Given the description of an element on the screen output the (x, y) to click on. 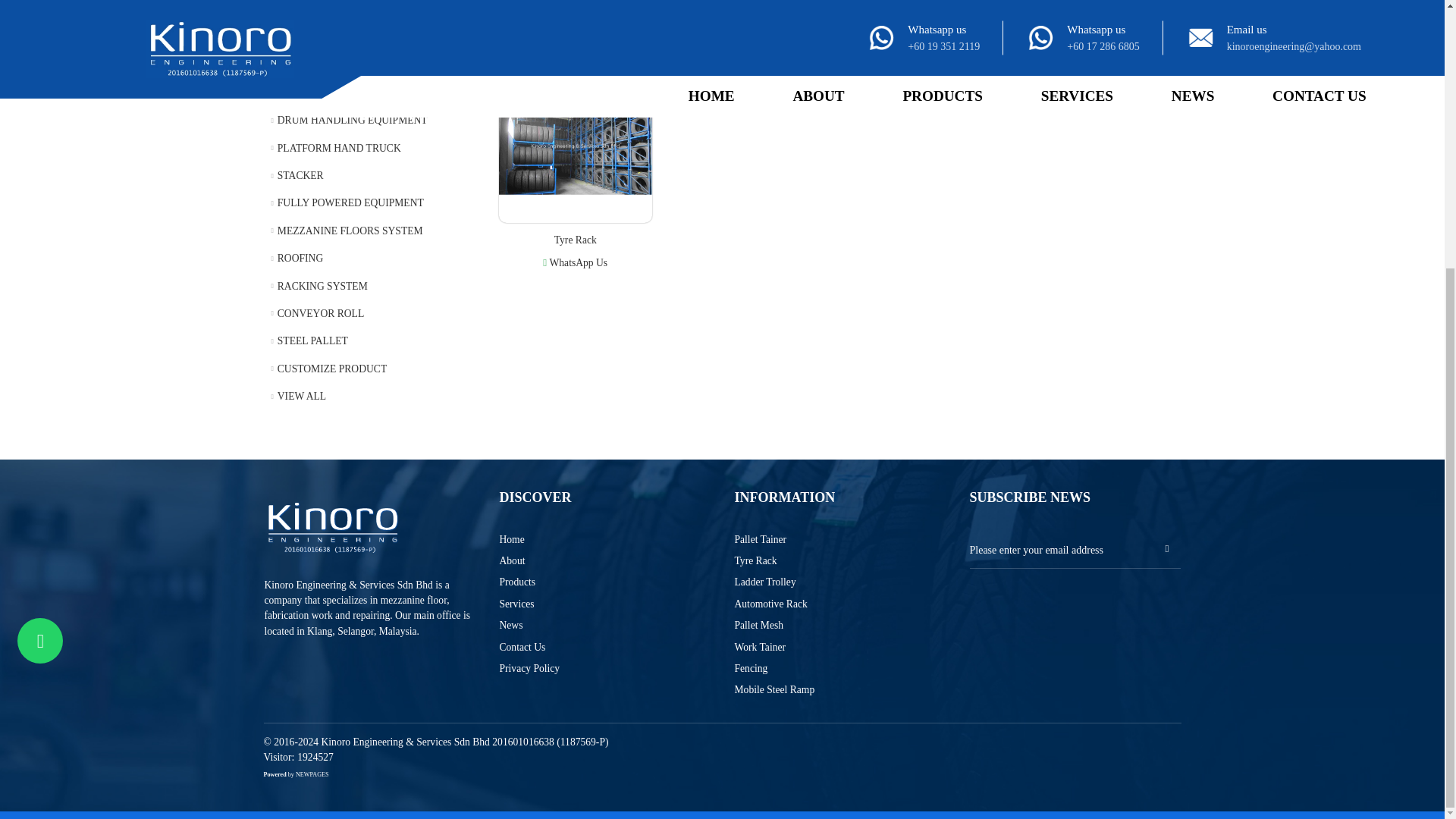
DRUM HANDLING EQUIPMENT (369, 120)
PLATFORM HAND TRUCK (369, 148)
STACKER (369, 175)
WORK TAINER (369, 12)
FENCING (369, 37)
MOBILE STEEL RAMP (369, 65)
MEZZANINE FLOORS SYSTEM (369, 230)
FULLY POWERED EQUIPMENT (369, 203)
MATERIAL HANDLING EQUIPMENT (369, 93)
